Given the description of an element on the screen output the (x, y) to click on. 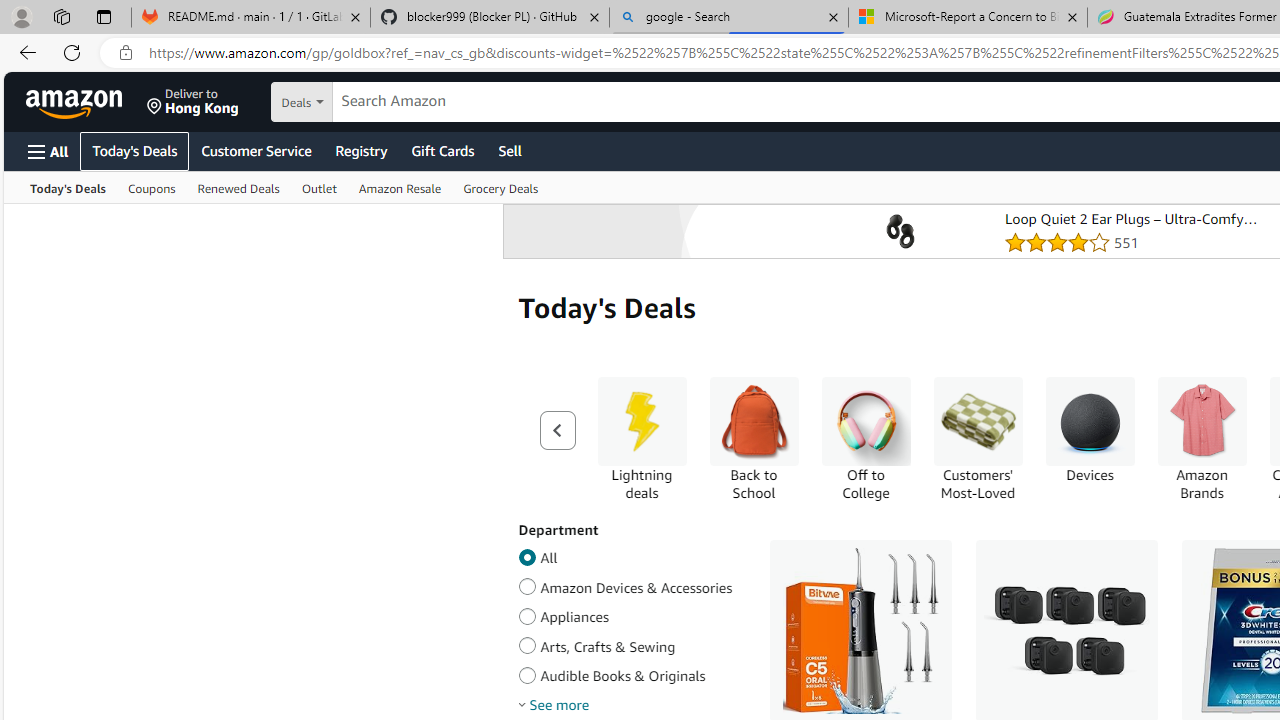
google - Search (729, 17)
Amazon Brands Amazon Brands (1201, 439)
See more filter options (559, 704)
Registry (360, 150)
Appliances (527, 613)
Audible Books & Originals (527, 672)
Customer Service (256, 150)
See more filter options (554, 704)
Amazon Brands (1201, 439)
Renewed Deals (237, 187)
